Given the description of an element on the screen output the (x, y) to click on. 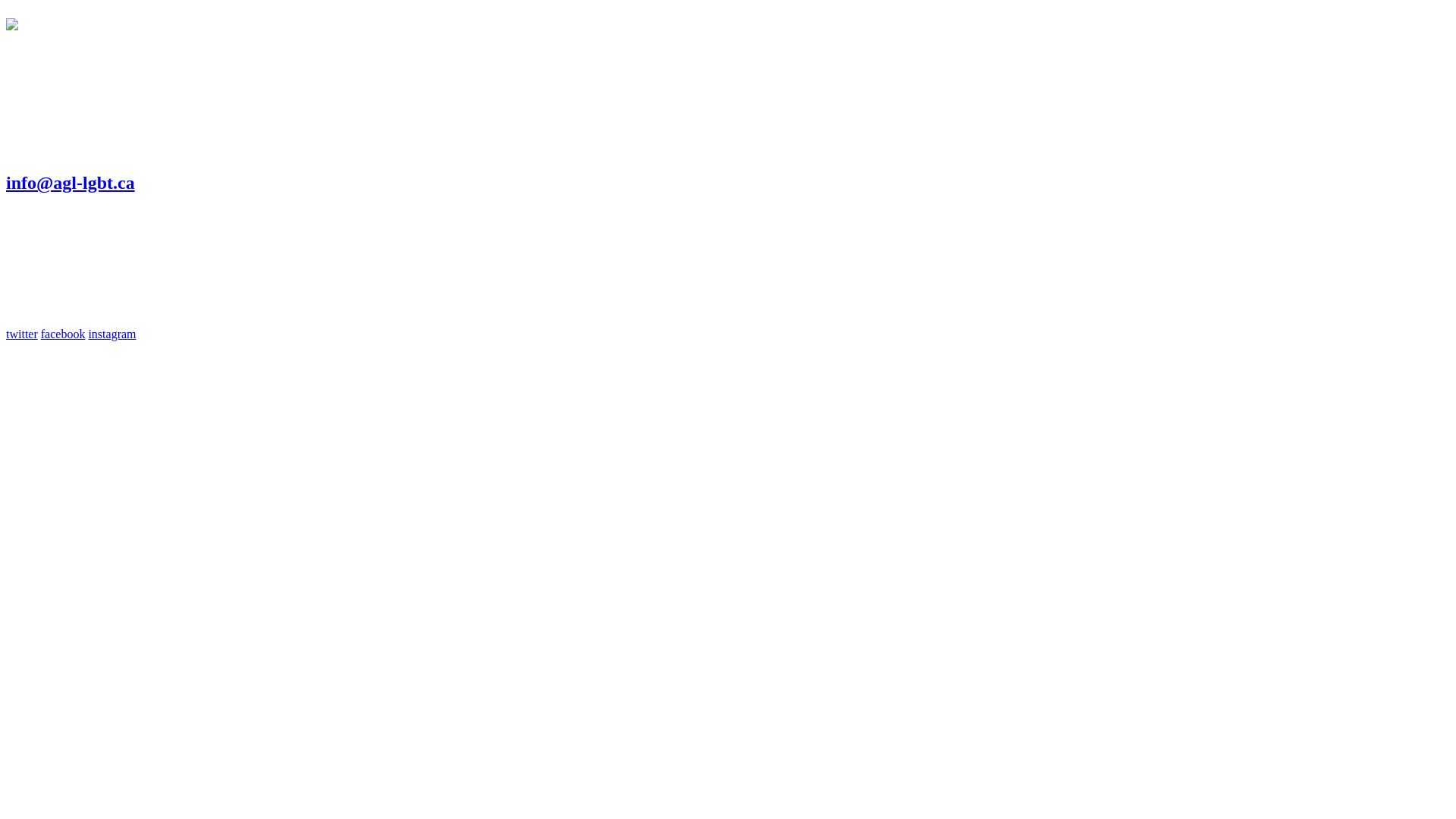
facebook Element type: text (62, 333)
twitter Element type: text (21, 333)
instagram Element type: text (111, 333)
info@agl-lgbt.ca Element type: text (70, 182)
